Given the description of an element on the screen output the (x, y) to click on. 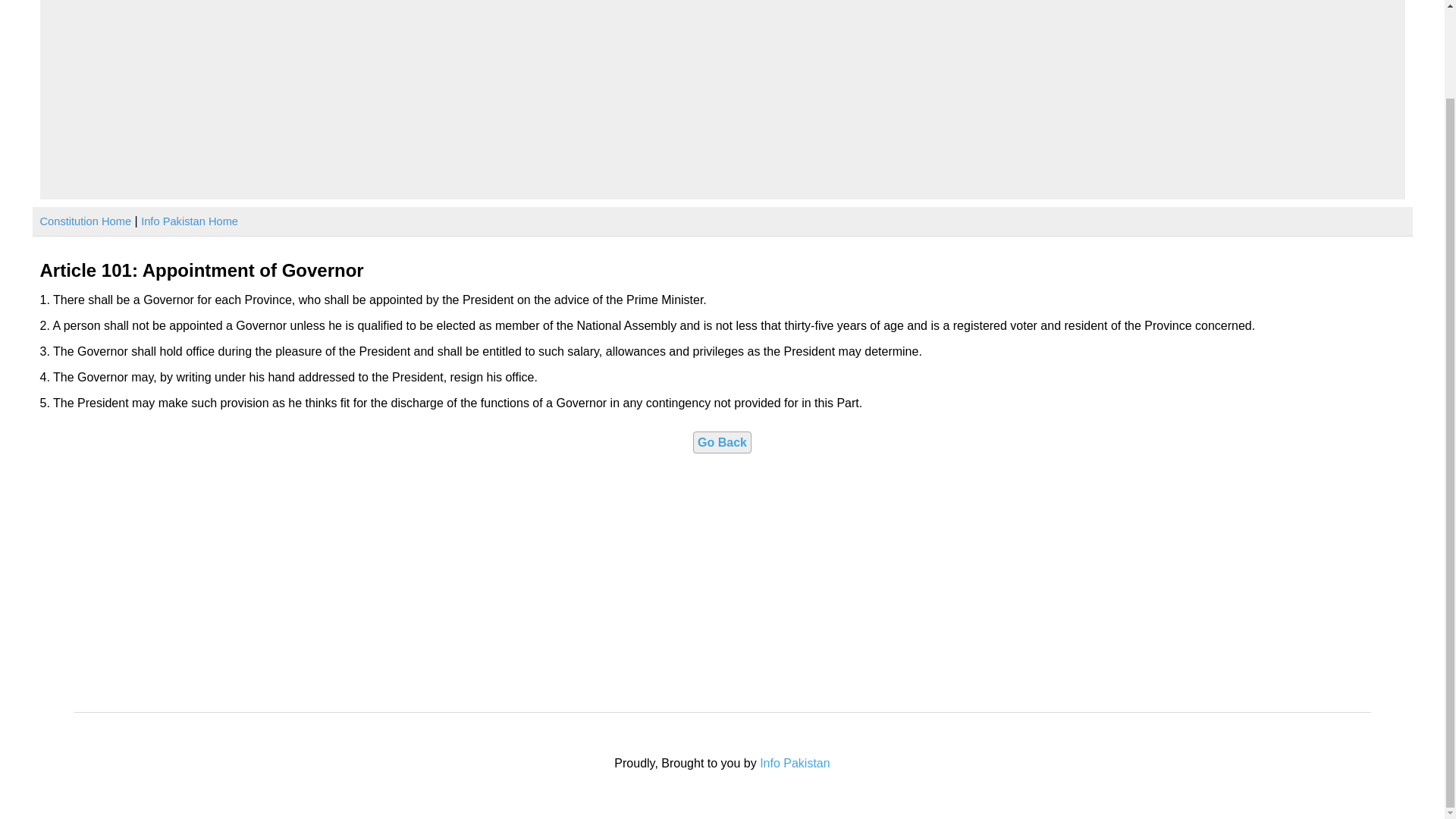
Info Pakistan Home (189, 221)
Info Pakistan (794, 762)
Constitution Home (85, 221)
Go Back (722, 442)
